Given the description of an element on the screen output the (x, y) to click on. 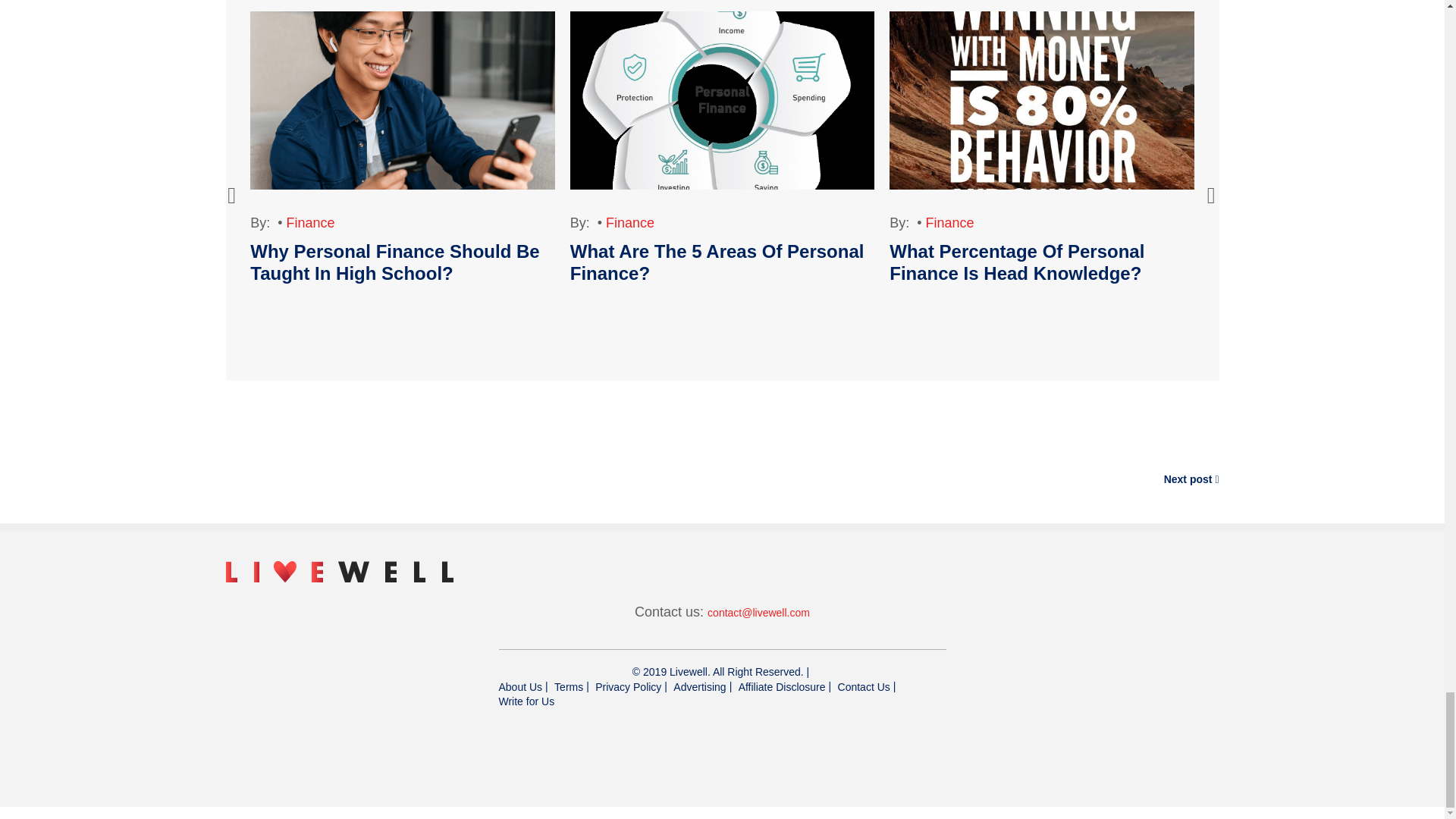
livewell (338, 571)
